Given the description of an element on the screen output the (x, y) to click on. 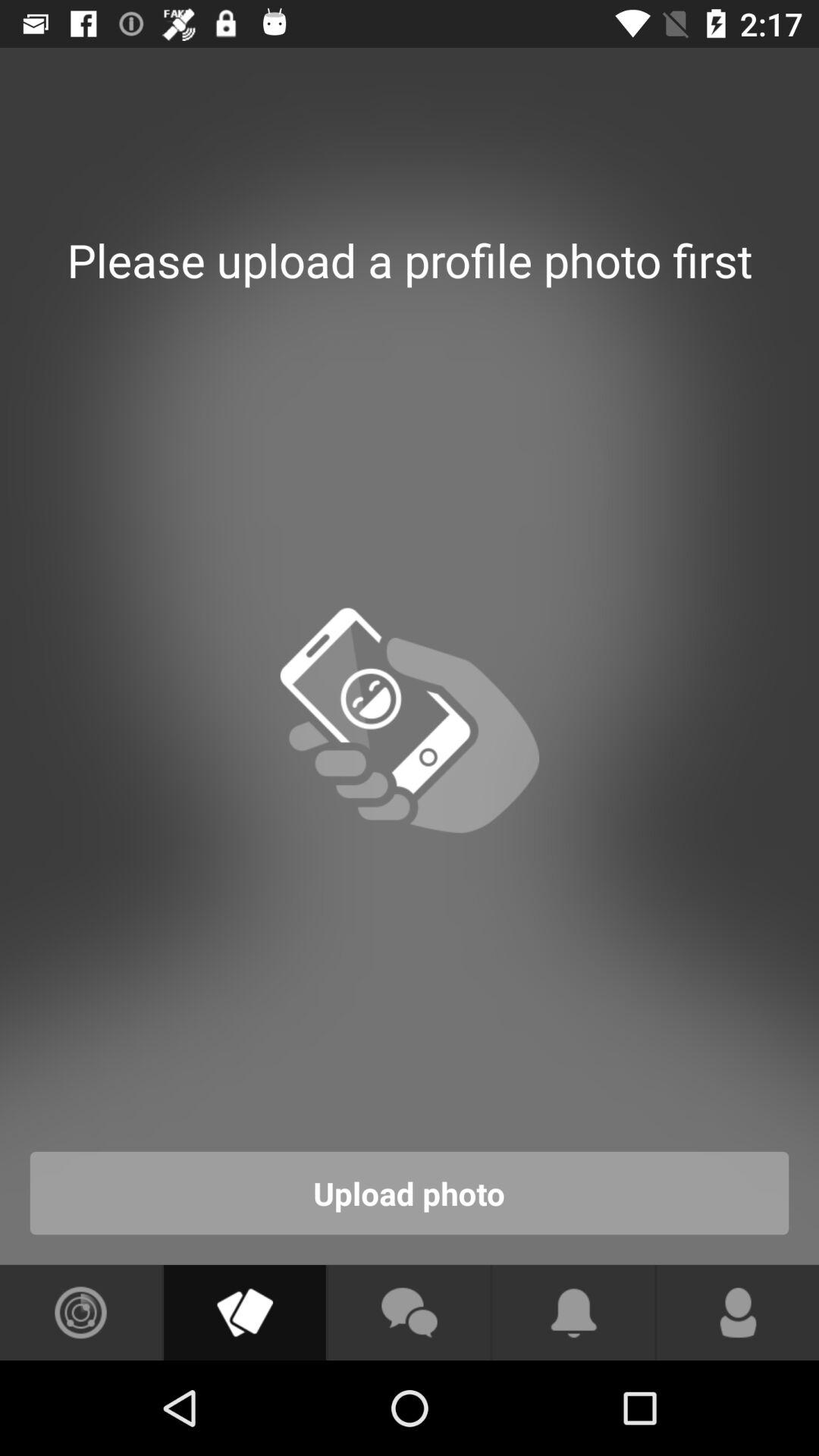
go to messages (409, 1312)
